Given the description of an element on the screen output the (x, y) to click on. 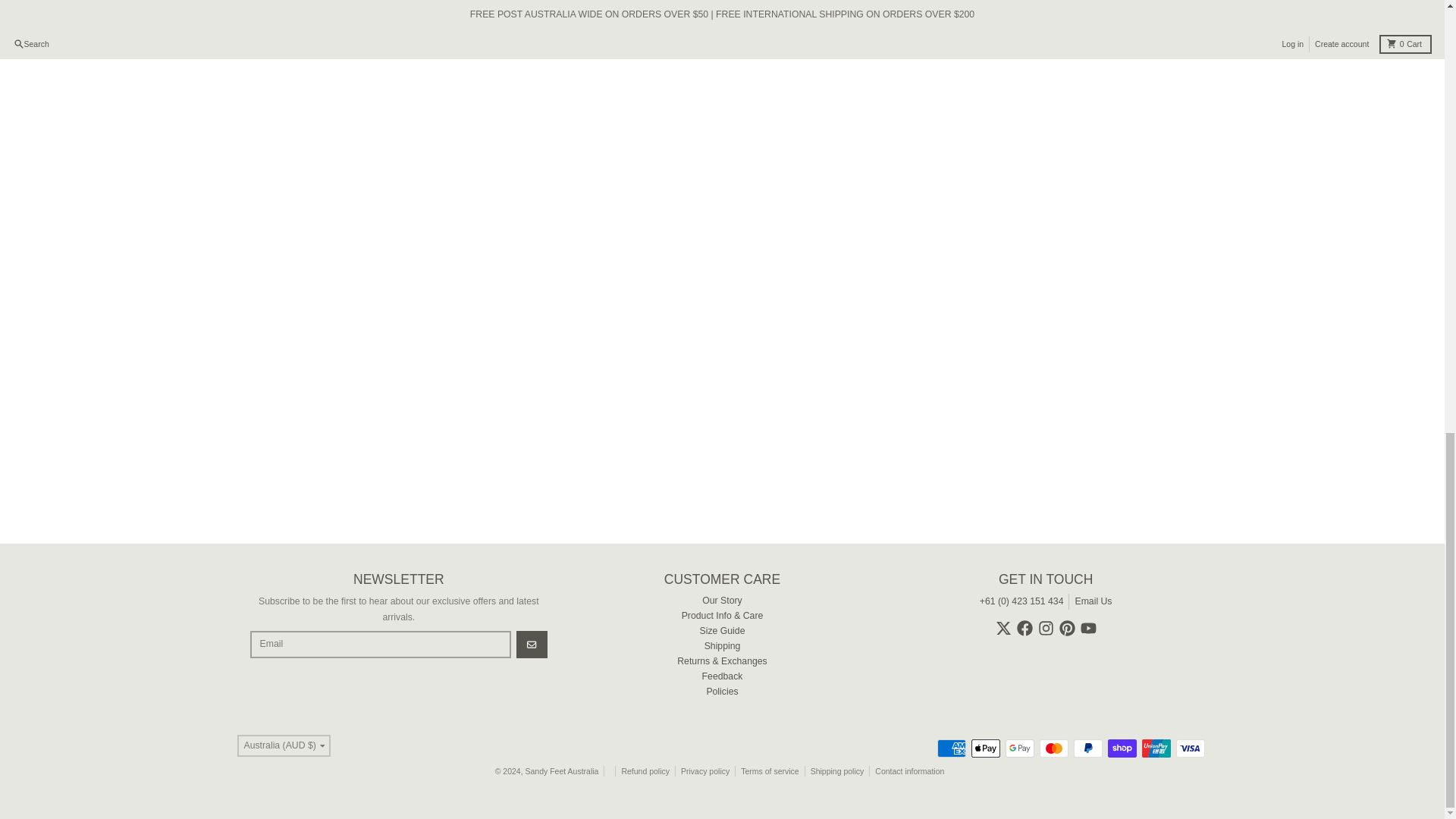
Twitter - Sandy Feet Australia (1003, 627)
Facebook - Sandy Feet Australia (1024, 627)
Instagram - Sandy Feet Australia (1046, 627)
